Given the description of an element on the screen output the (x, y) to click on. 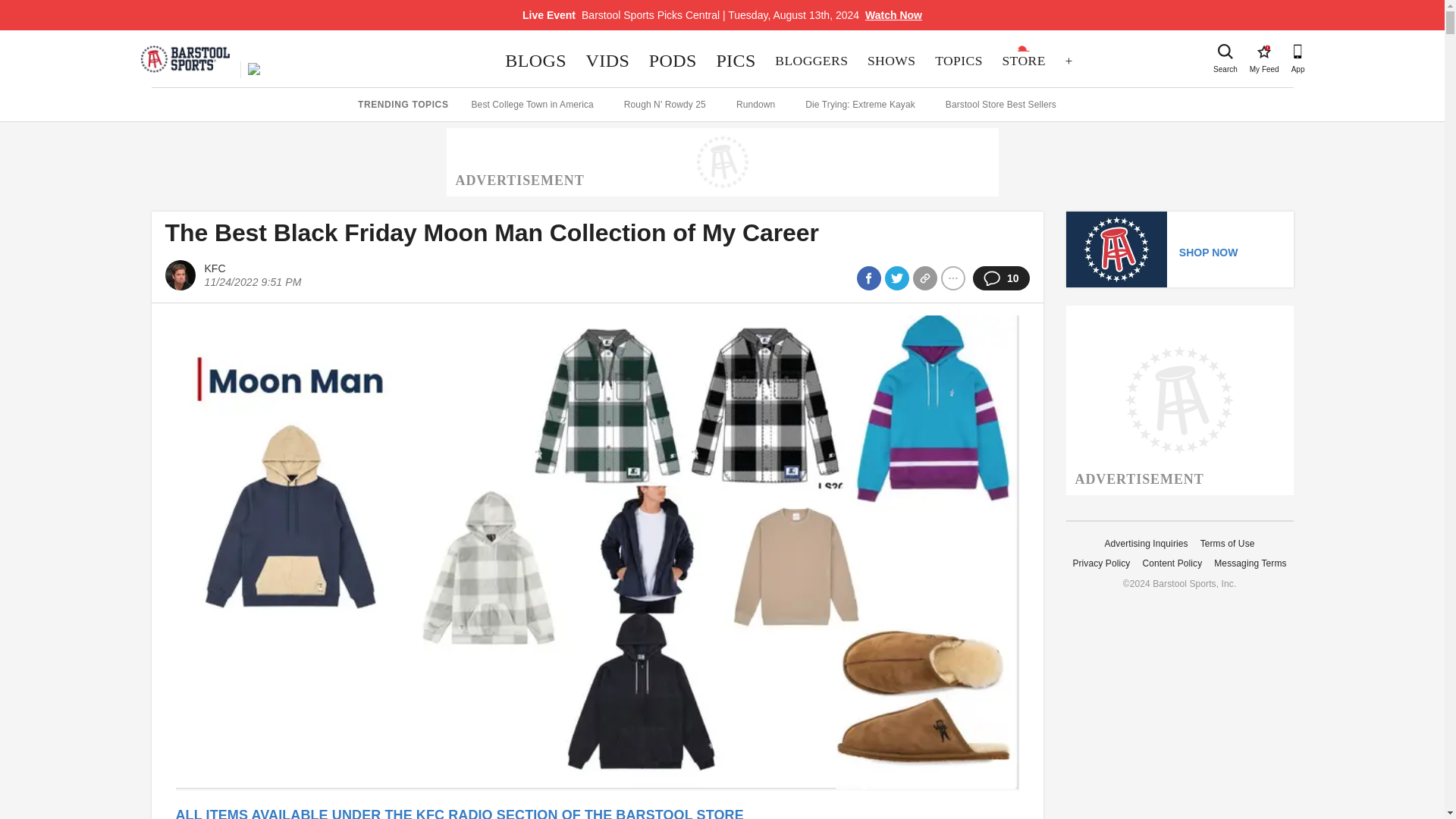
TOPICS (957, 60)
STORE (1263, 51)
SHOWS (1023, 60)
PODS (890, 60)
PICS (672, 60)
BLOGS (735, 60)
VIDS (536, 60)
Watch Now (607, 60)
Search (892, 15)
